Given the description of an element on the screen output the (x, y) to click on. 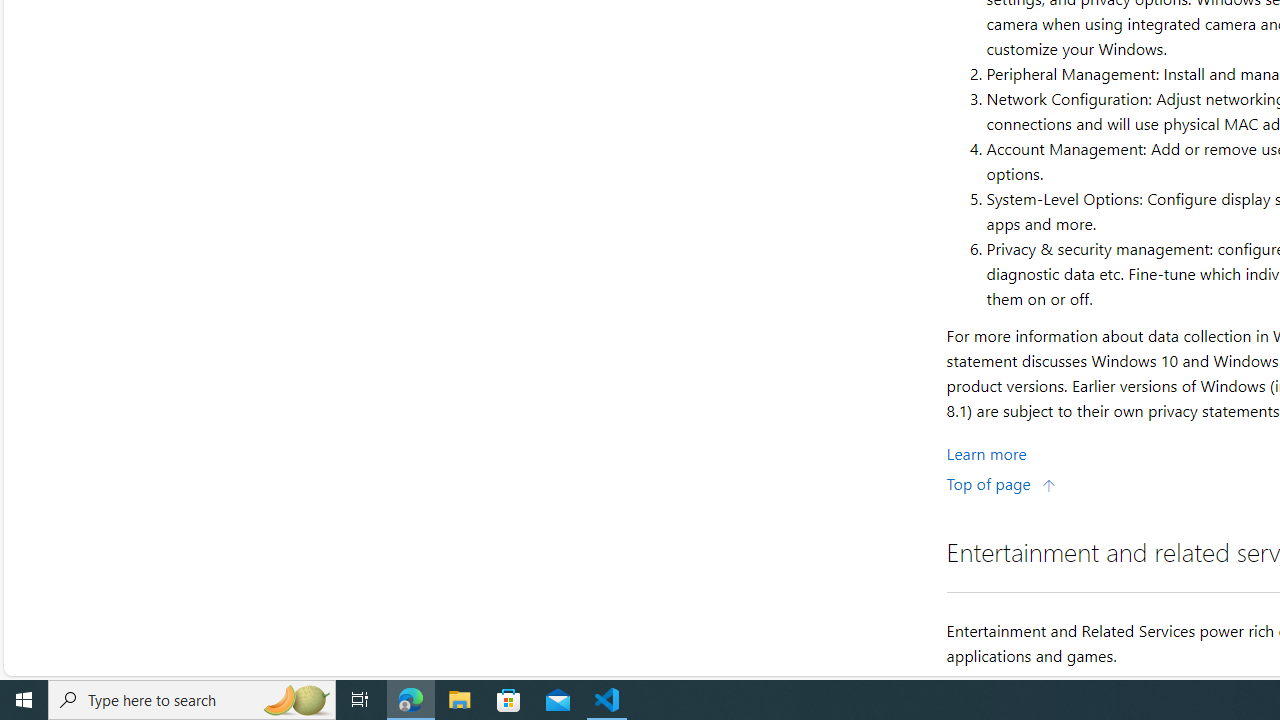
Learn More about Windows (985, 452)
Top of page (1001, 482)
